Given the description of an element on the screen output the (x, y) to click on. 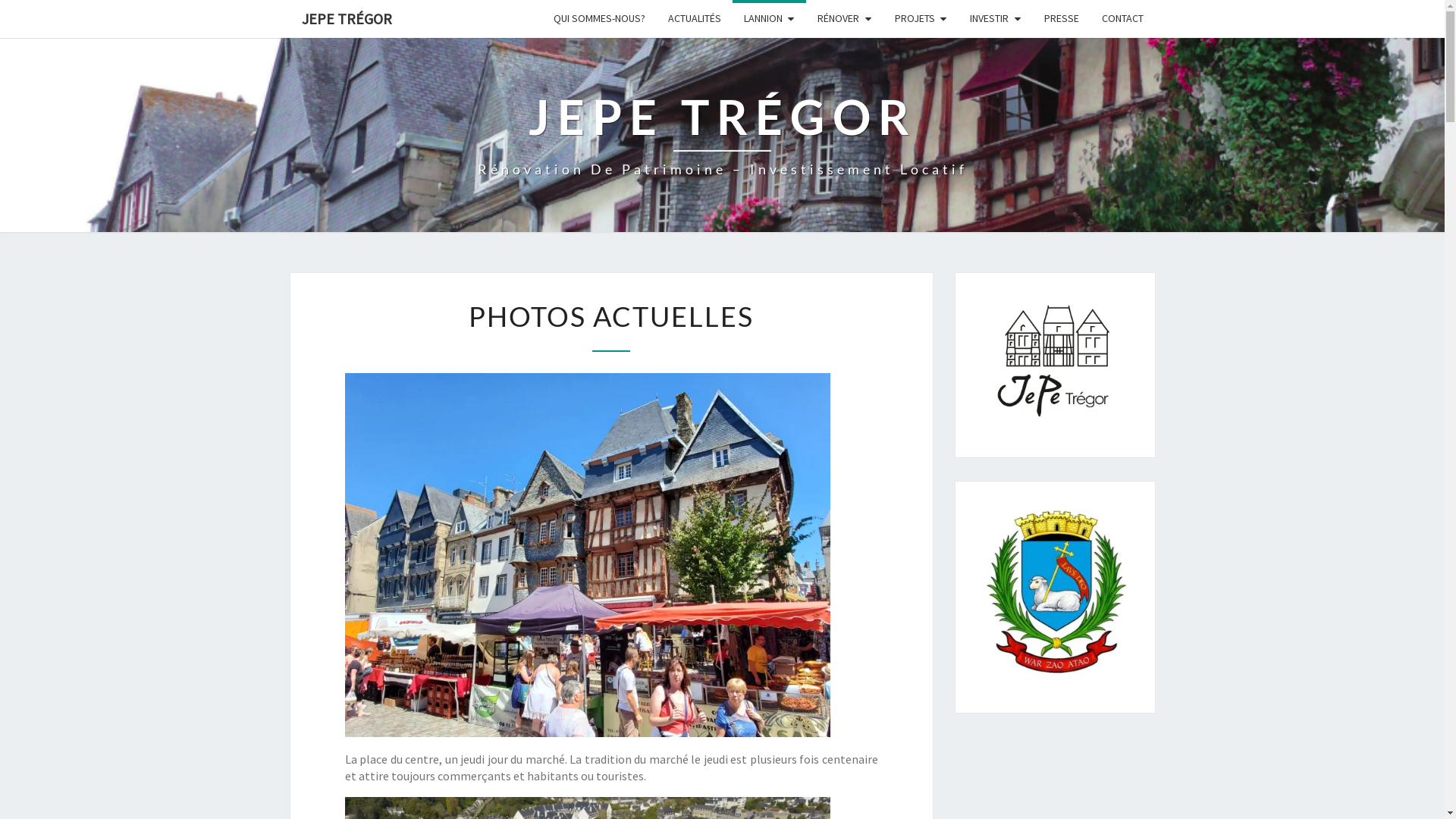
LANNION Element type: text (769, 18)
PROJETS Element type: text (920, 18)
INVESTIR Element type: text (995, 18)
PRESSE Element type: text (1061, 18)
CONTACT Element type: text (1122, 18)
QUI SOMMES-NOUS? Element type: text (598, 18)
